Given the description of an element on the screen output the (x, y) to click on. 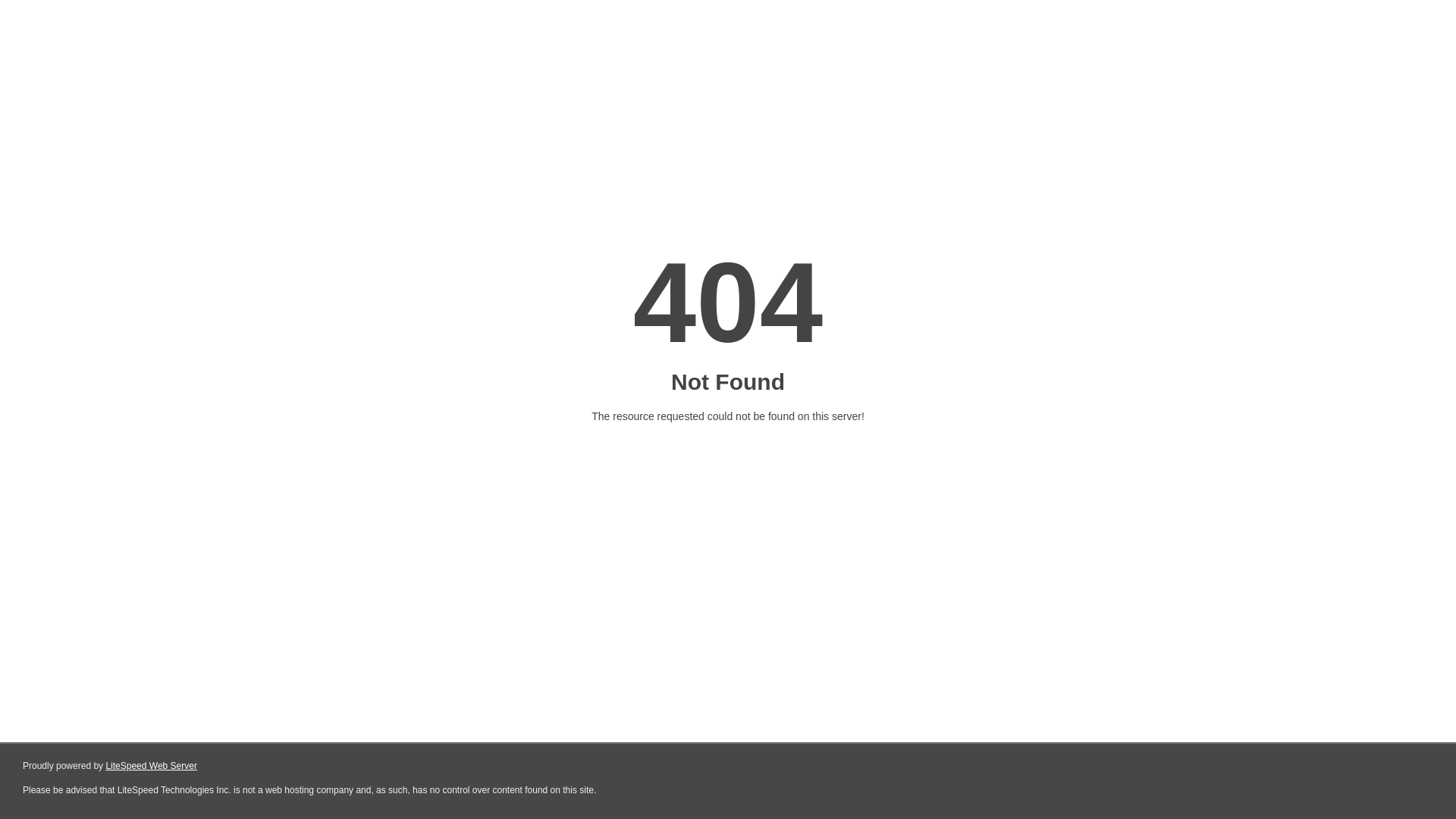
LiteSpeed Web Server Element type: text (151, 765)
